Given the description of an element on the screen output the (x, y) to click on. 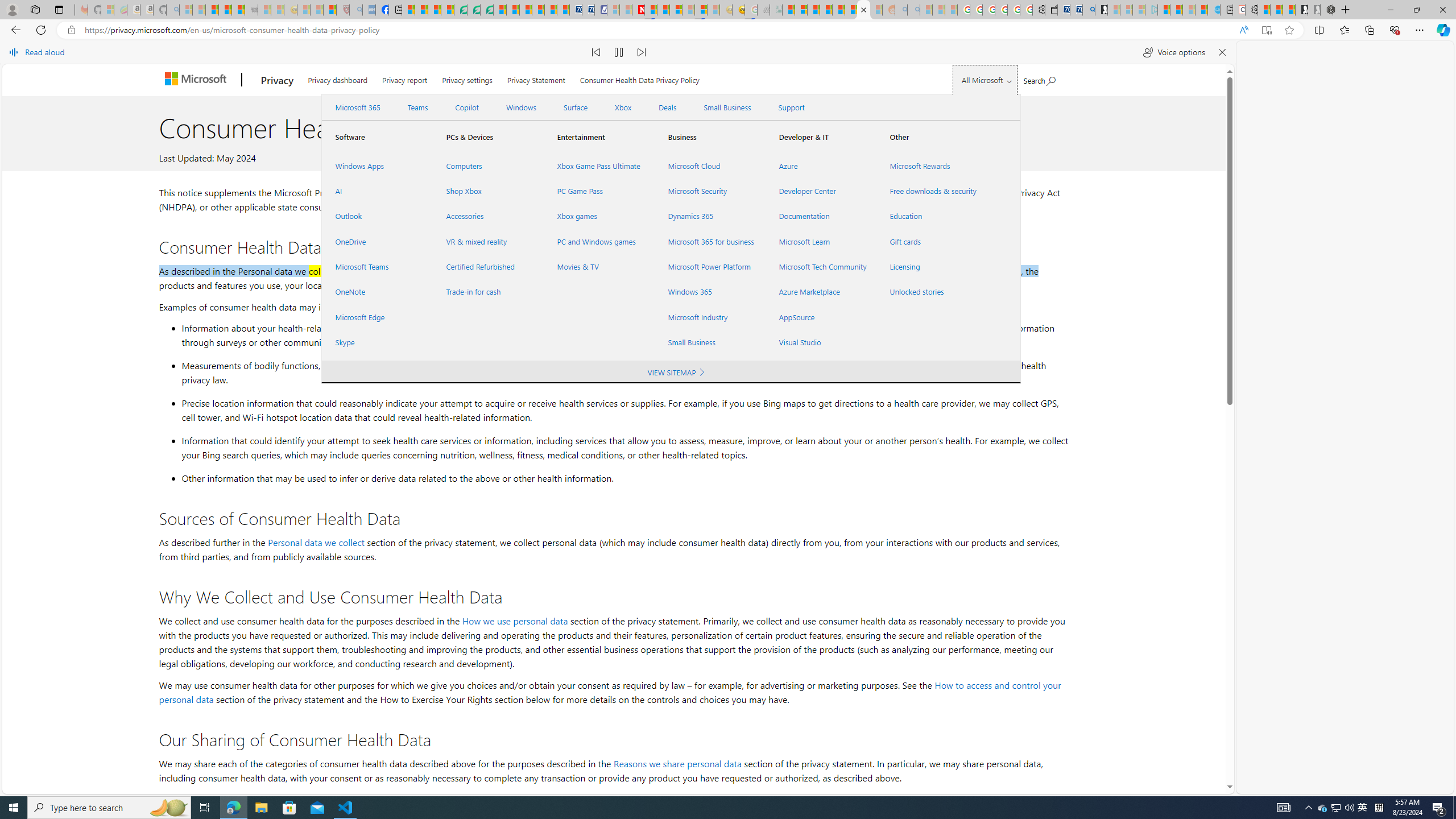
Privacy settings (466, 77)
Surface (574, 107)
AppSource (820, 317)
Read next paragraph (641, 52)
Read previous paragraph (596, 52)
Xbox Game Pass Ultimate (599, 165)
Copilot (466, 107)
Navy Quest (763, 9)
Microsoft Tech Community (820, 266)
How we use personal data (514, 620)
Deals (667, 107)
